Given the description of an element on the screen output the (x, y) to click on. 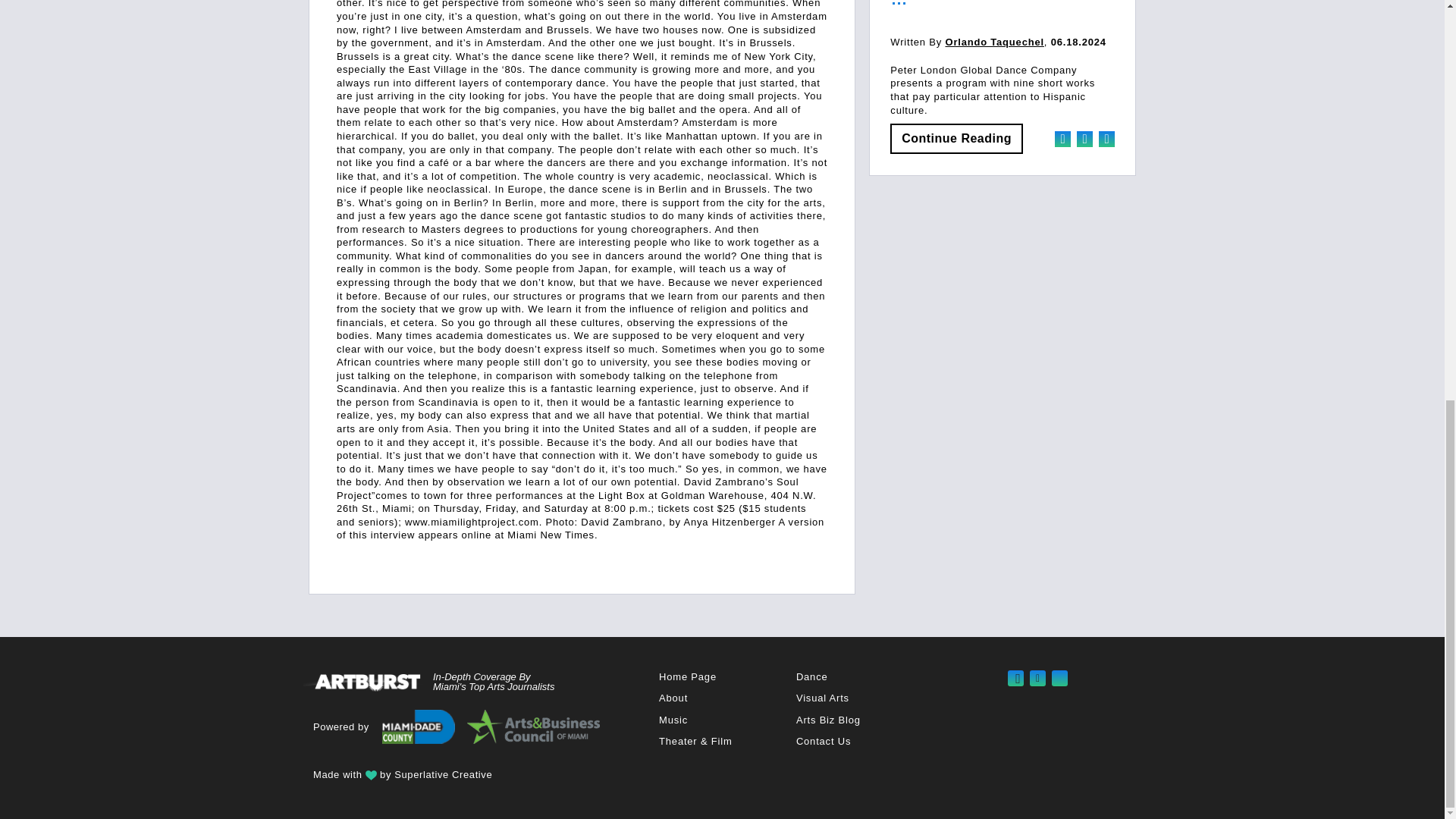
Contact Us (823, 740)
Visual Arts (822, 697)
Home Page (687, 676)
Orlando Taquechel (993, 41)
Arts Biz Blog (828, 719)
About (673, 697)
Music (673, 719)
Continue Reading (955, 138)
Dance (812, 676)
Superlative Creative (443, 774)
